Given the description of an element on the screen output the (x, y) to click on. 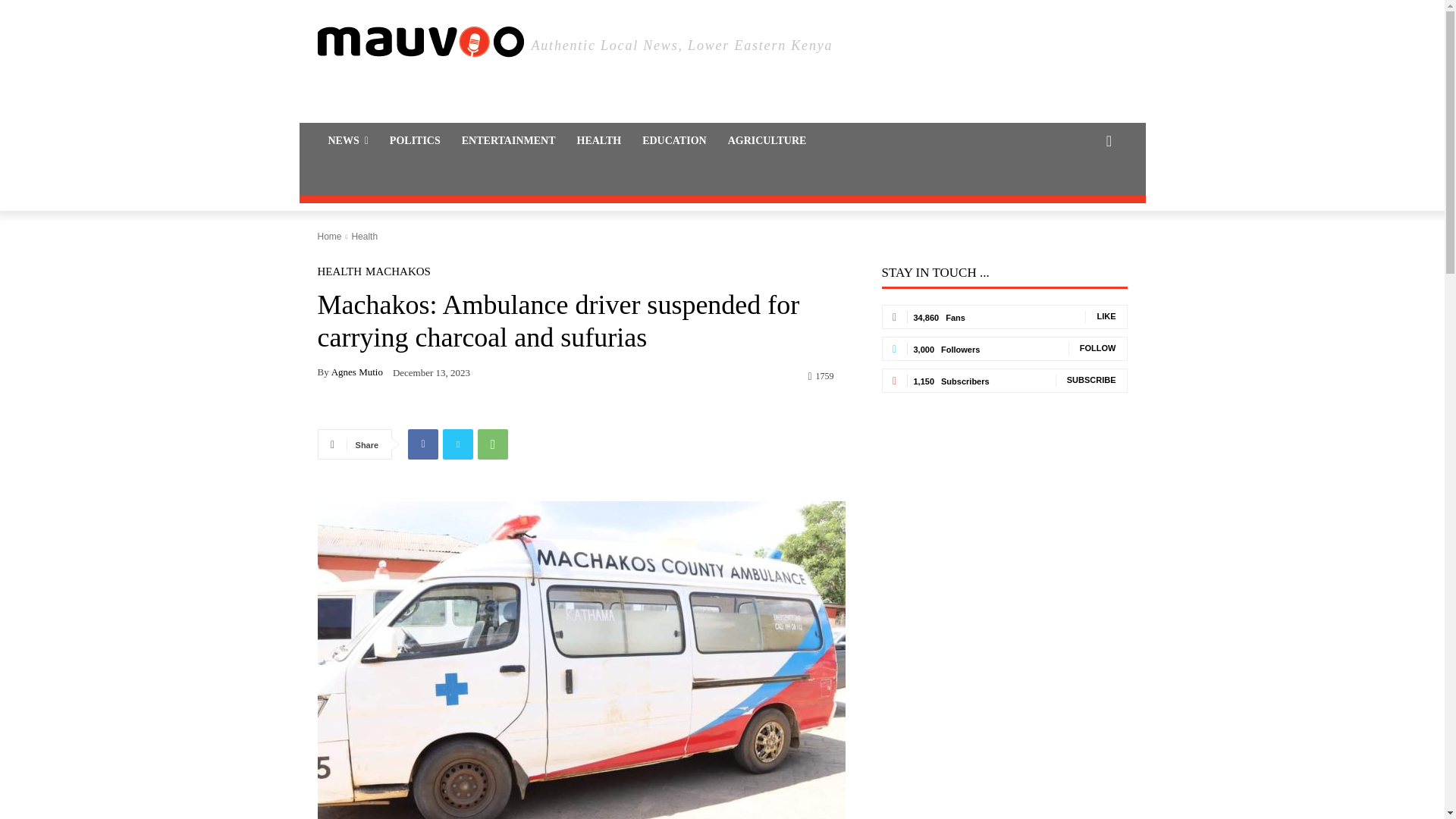
Mauvoo - Authentic Local News from Lower Eastern Kenya (419, 42)
POLITICS (414, 140)
View all posts in Health (363, 235)
Twitter (457, 444)
WhatsApp (492, 444)
NEWS (347, 140)
HEALTH (598, 140)
Home (328, 235)
AGRICULTURE (766, 140)
ENTERTAINMENT (508, 140)
Authentic Local News, Lower Eastern Kenya (721, 42)
EDUCATION (674, 140)
Facebook (422, 444)
